Given the description of an element on the screen output the (x, y) to click on. 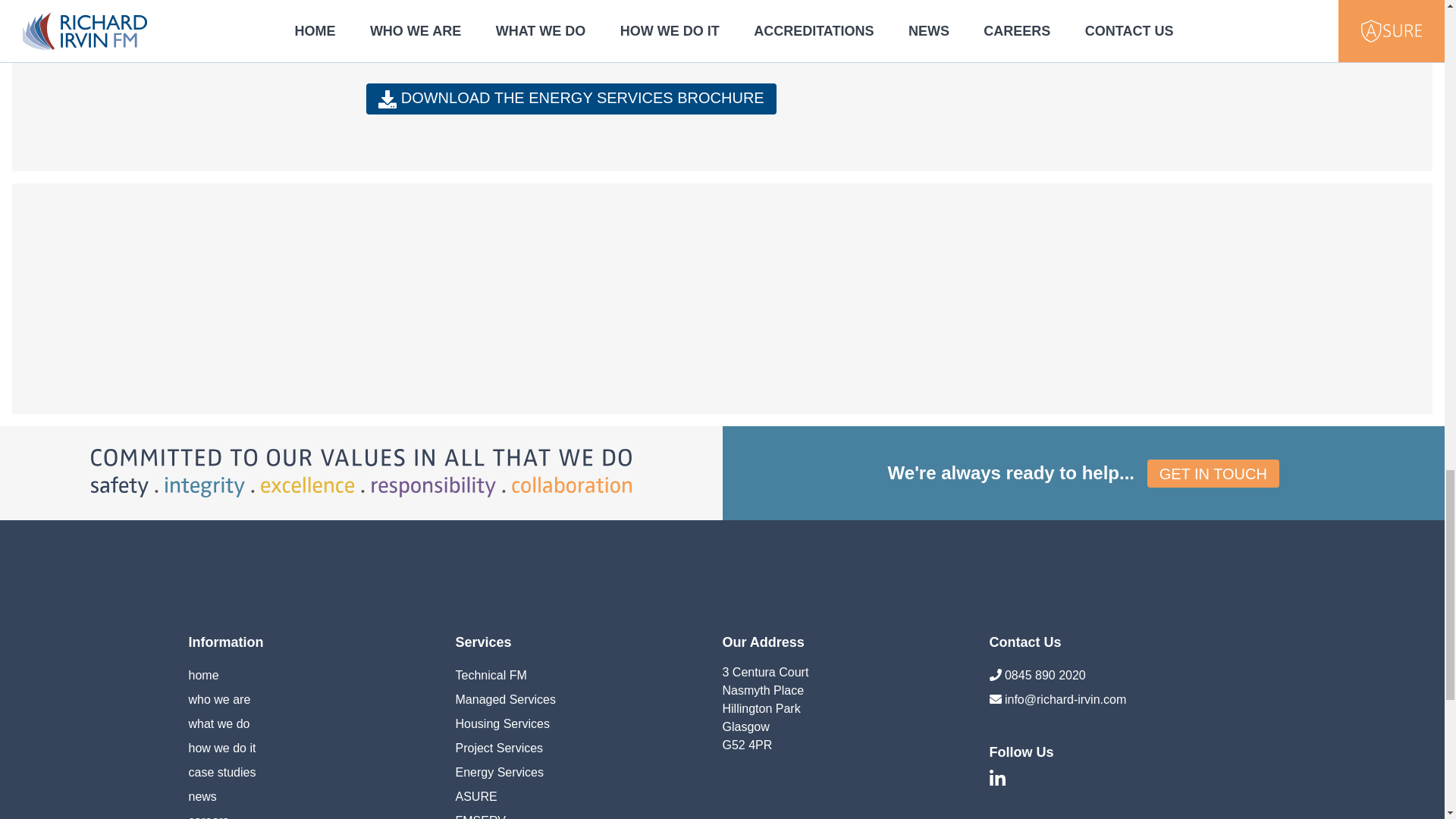
ASURE (475, 796)
how we do it (221, 748)
who we are (218, 698)
DOWNLOAD THE ENERGY SERVICES BROCHURE (571, 98)
Managed Services (505, 698)
Energy Services (498, 771)
Housing Services (502, 723)
case studies (221, 771)
Project Services (498, 748)
news (201, 796)
0845 890 2020 (1045, 675)
home (202, 675)
Page 3 (722, 4)
careers (207, 816)
what we do (217, 723)
